Given the description of an element on the screen output the (x, y) to click on. 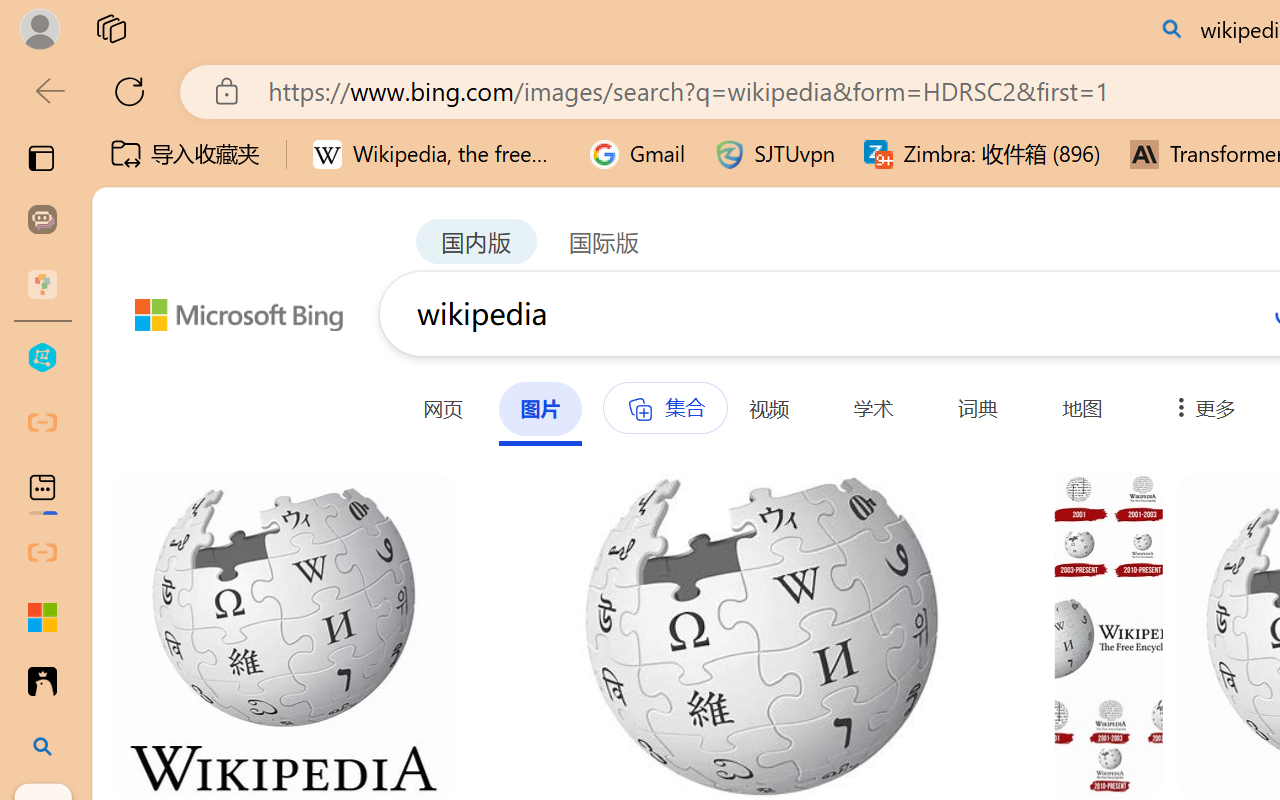
Insert Header Row (735, 112)
Subtitle Settings (884, 132)
Slide Title (476, 94)
Reading Order Pane (529, 114)
Inspect without Color (353, 114)
Slide Title (476, 114)
Mark as Decorative (634, 114)
